Given the description of an element on the screen output the (x, y) to click on. 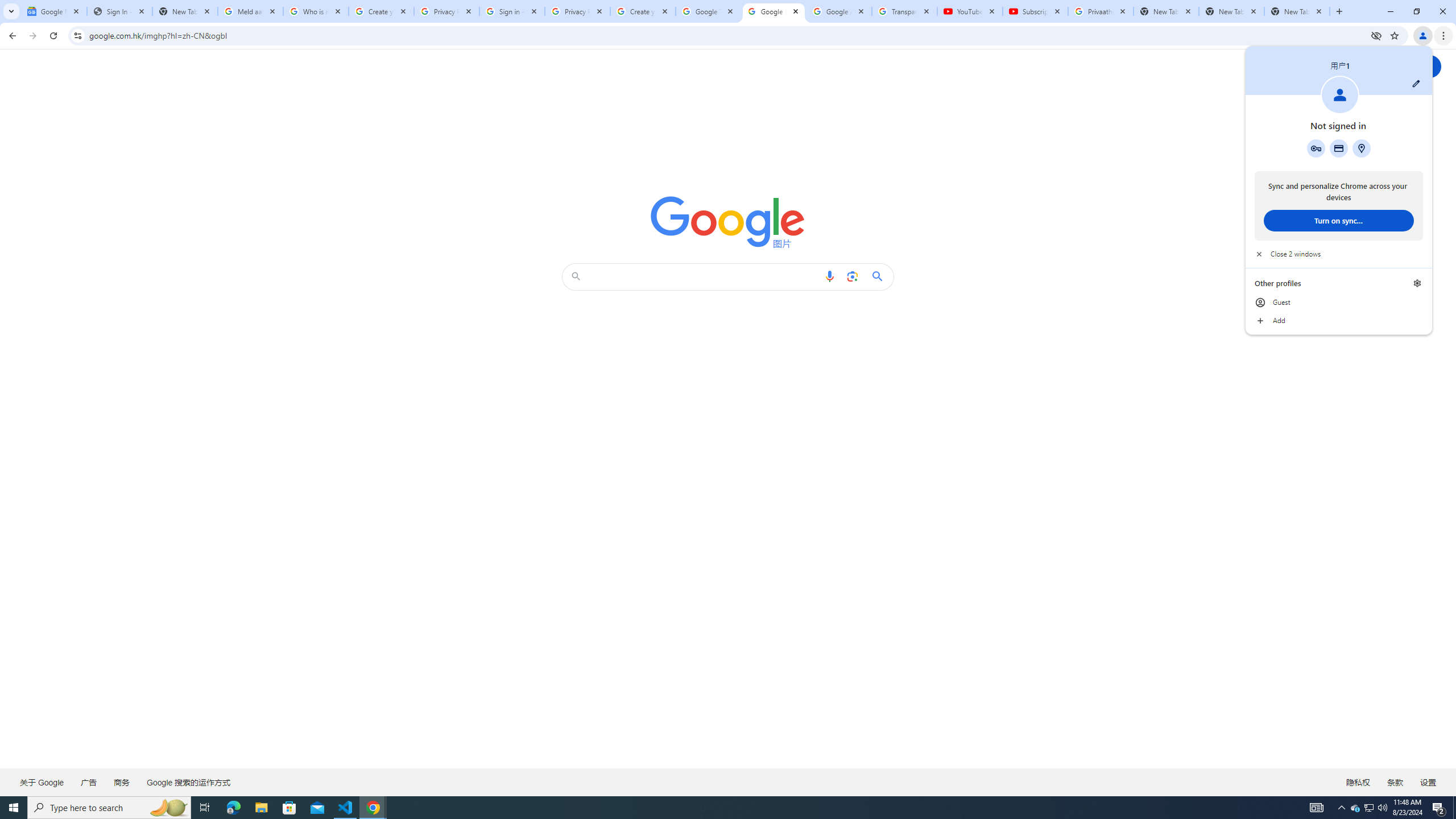
Create your Google Account (643, 11)
Start (13, 807)
Microsoft Store (1355, 807)
Search highlights icon opens search home window (289, 807)
Subscriptions - YouTube (167, 807)
